Given the description of an element on the screen output the (x, y) to click on. 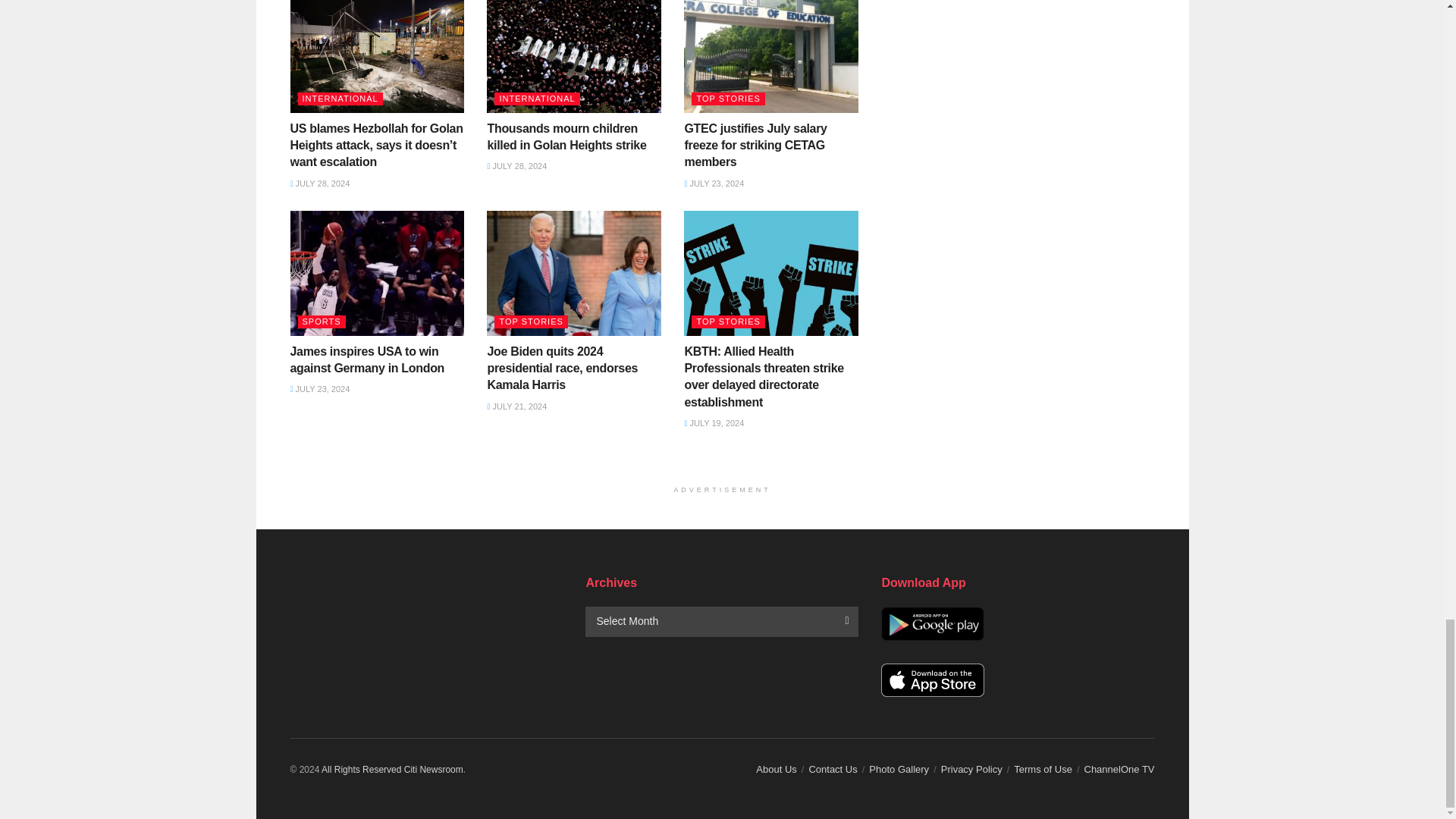
Google Play (932, 623)
App Store (932, 680)
Citi Newsroom (433, 769)
Citi Newsroom (361, 769)
